Given the description of an element on the screen output the (x, y) to click on. 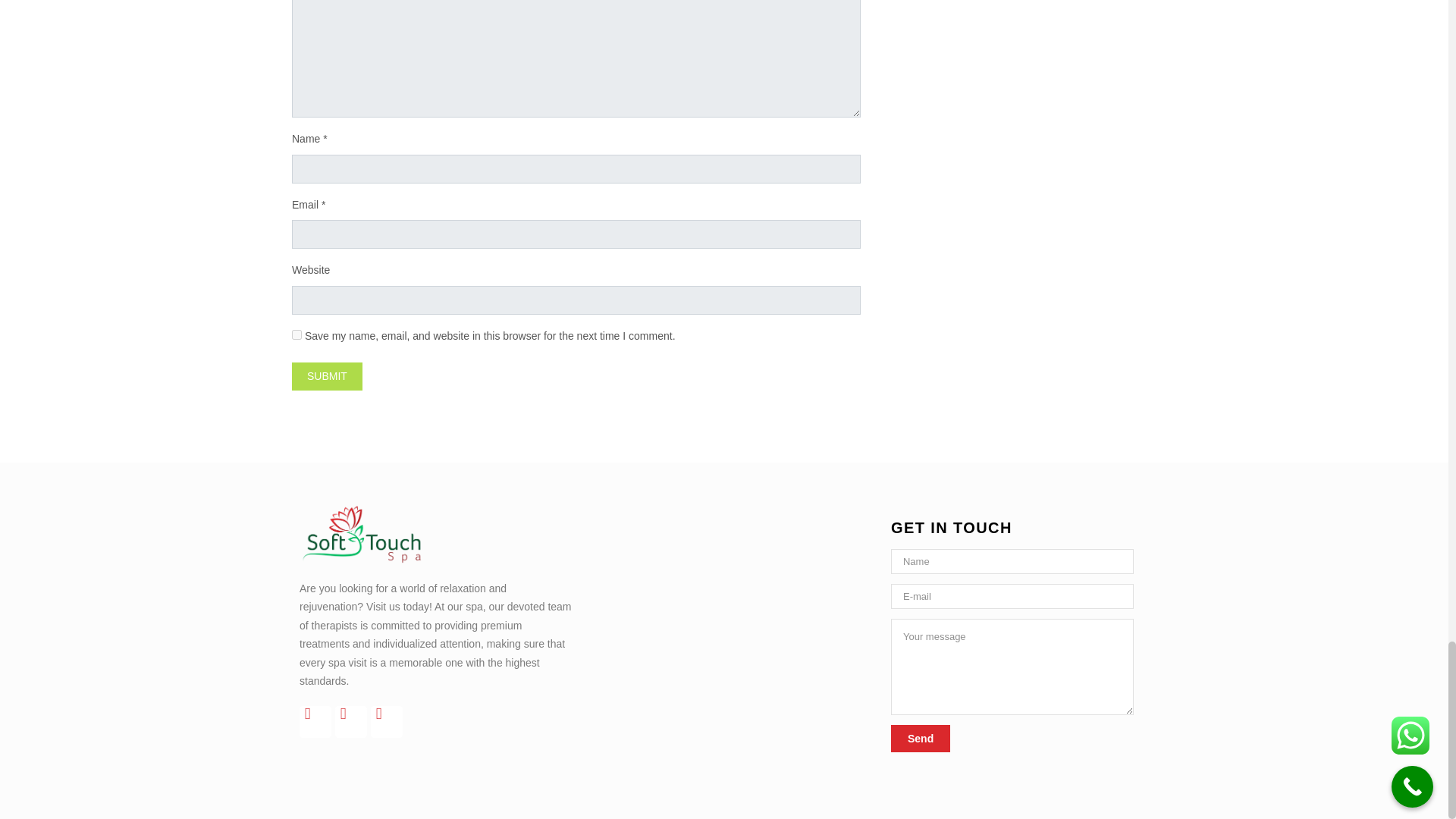
Send (920, 738)
yes (296, 334)
Submit (327, 376)
